Given the description of an element on the screen output the (x, y) to click on. 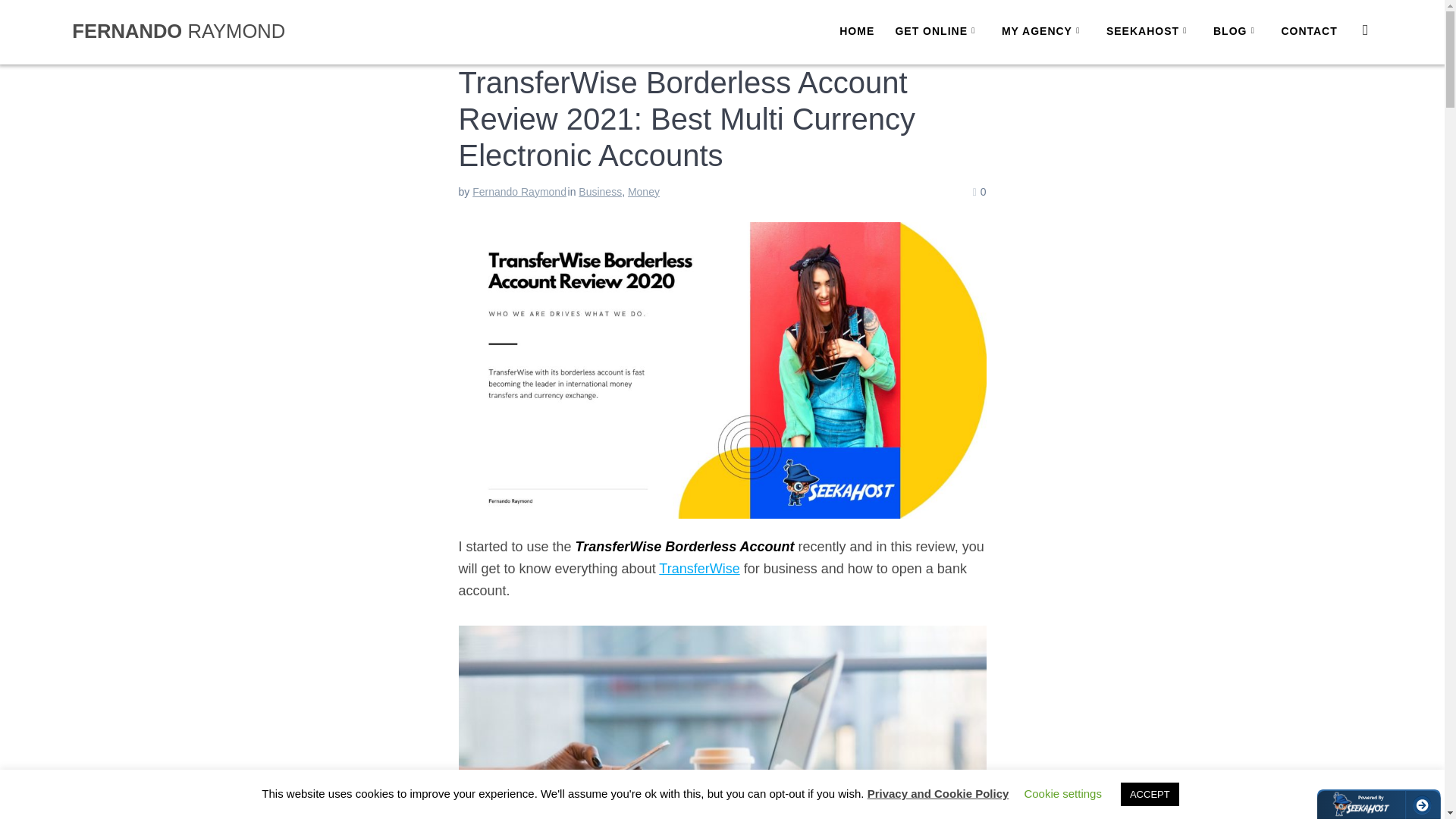
MY AGENCY (1043, 31)
GET ONLINE (937, 31)
SEEKAHOST (1149, 31)
TransferWise (699, 568)
BLOG (1236, 31)
Business (599, 191)
FERNANDO RAYMOND (178, 31)
Money (643, 191)
HOME (857, 31)
Posts by Fernando Raymond (518, 191)
